Given the description of an element on the screen output the (x, y) to click on. 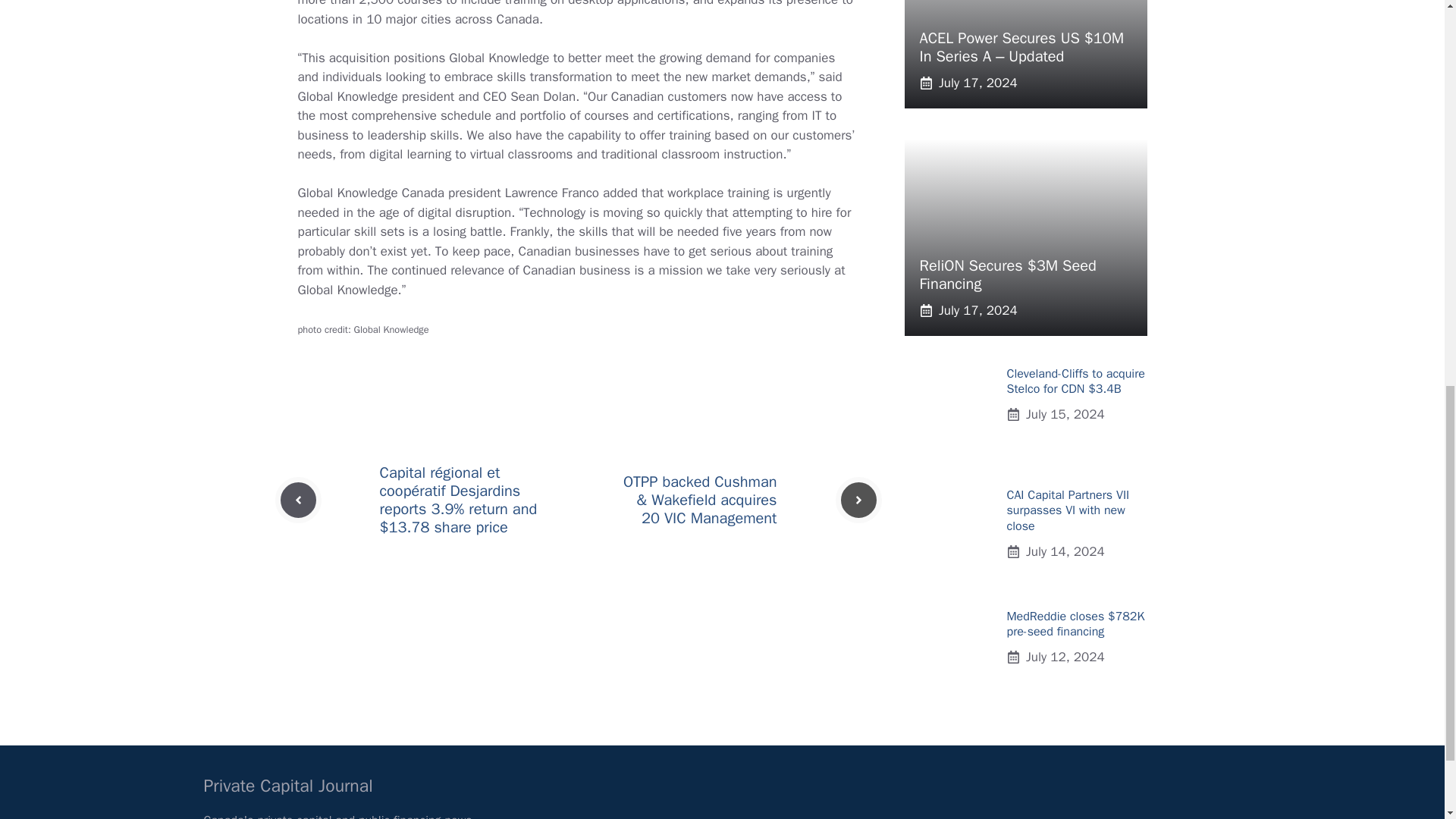
Scroll back to top (1406, 720)
